Given the description of an element on the screen output the (x, y) to click on. 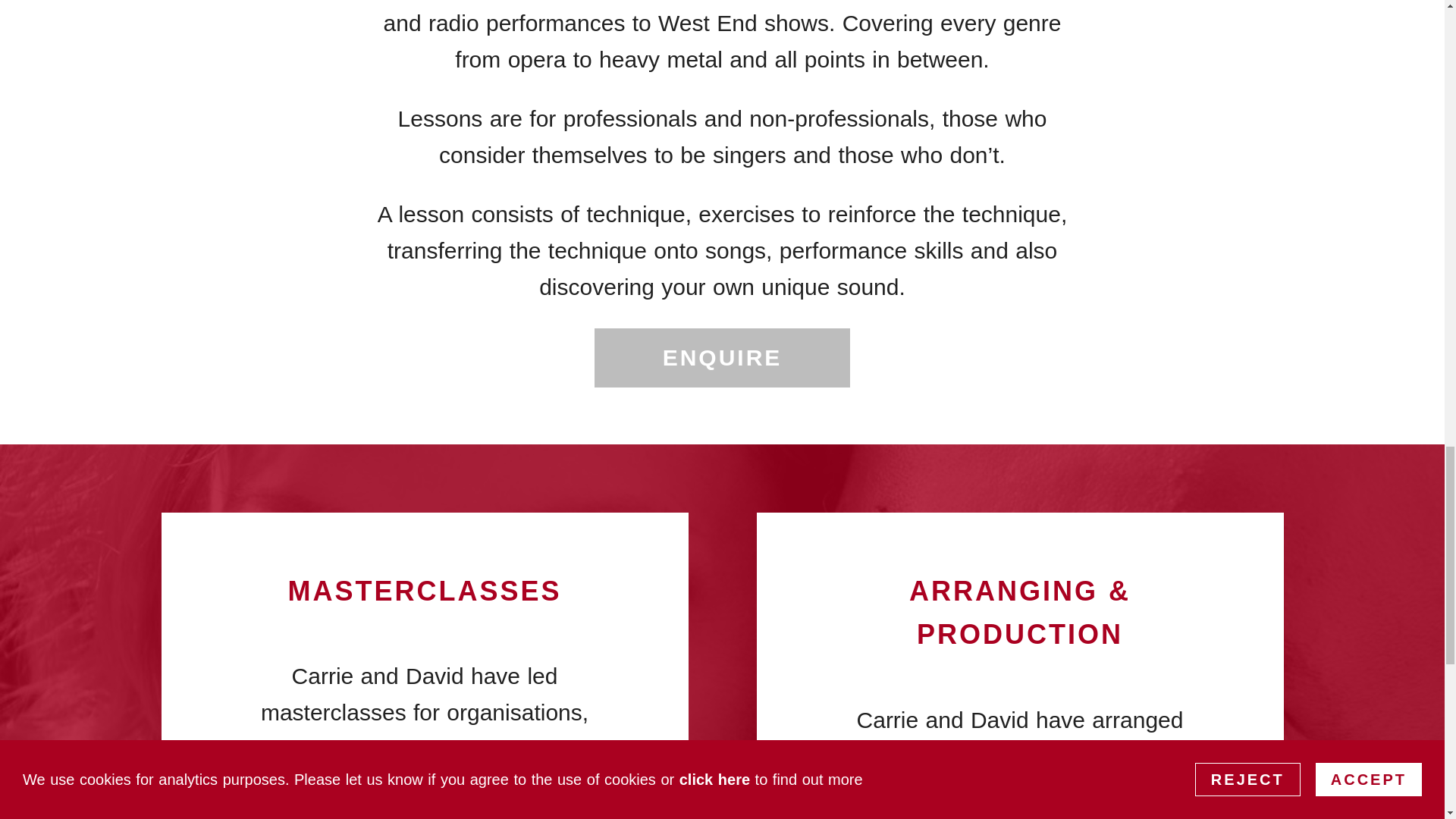
ENQUIRE (722, 357)
